Given the description of an element on the screen output the (x, y) to click on. 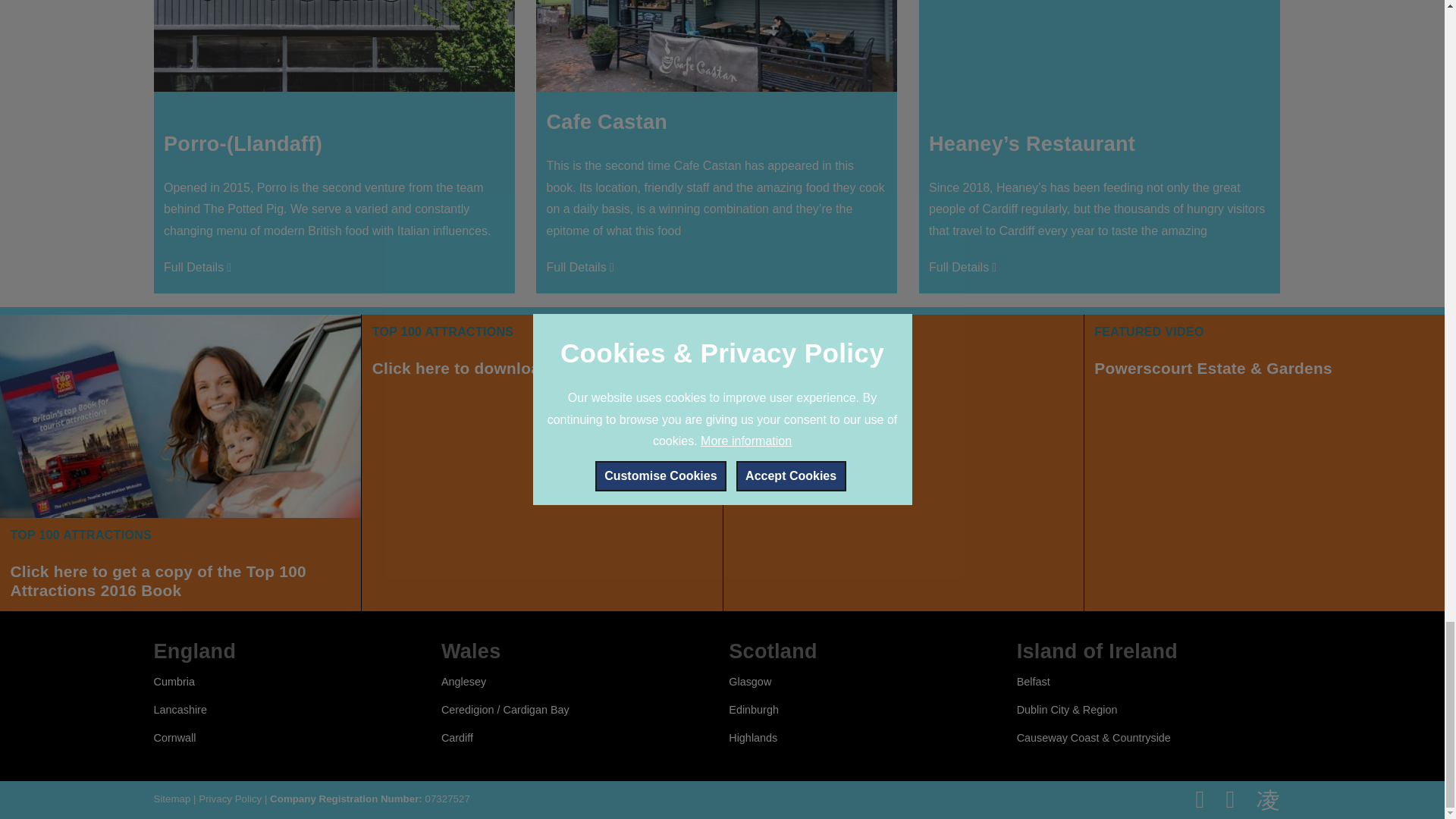
Full Details (903, 462)
Anglesey (582, 267)
Full Details (463, 681)
Cornwall (964, 267)
Cumbria (173, 737)
Full Details (541, 462)
Lancashire (172, 681)
